Given the description of an element on the screen output the (x, y) to click on. 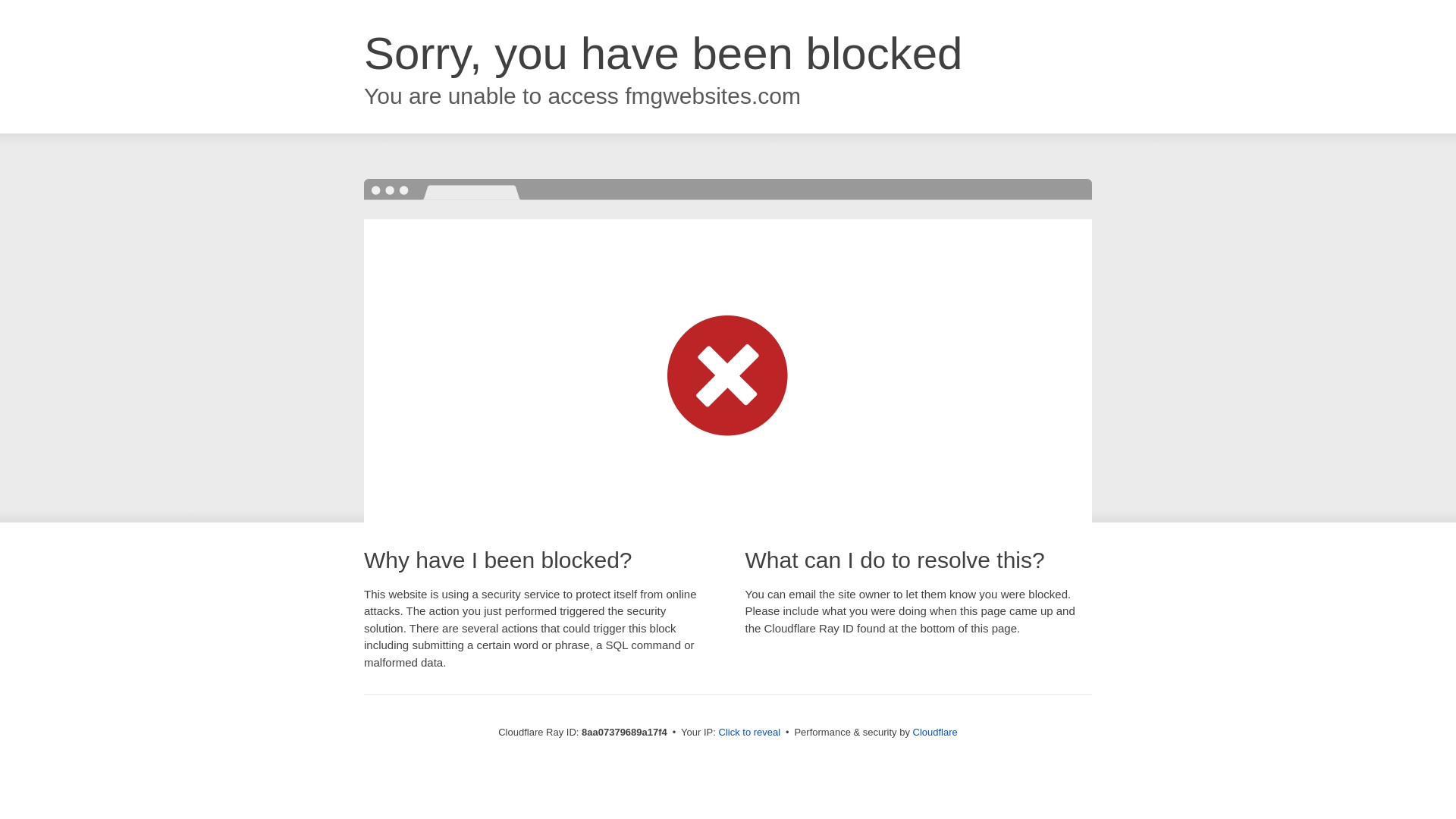
Click to reveal (749, 732)
Cloudflare (935, 731)
